Given the description of an element on the screen output the (x, y) to click on. 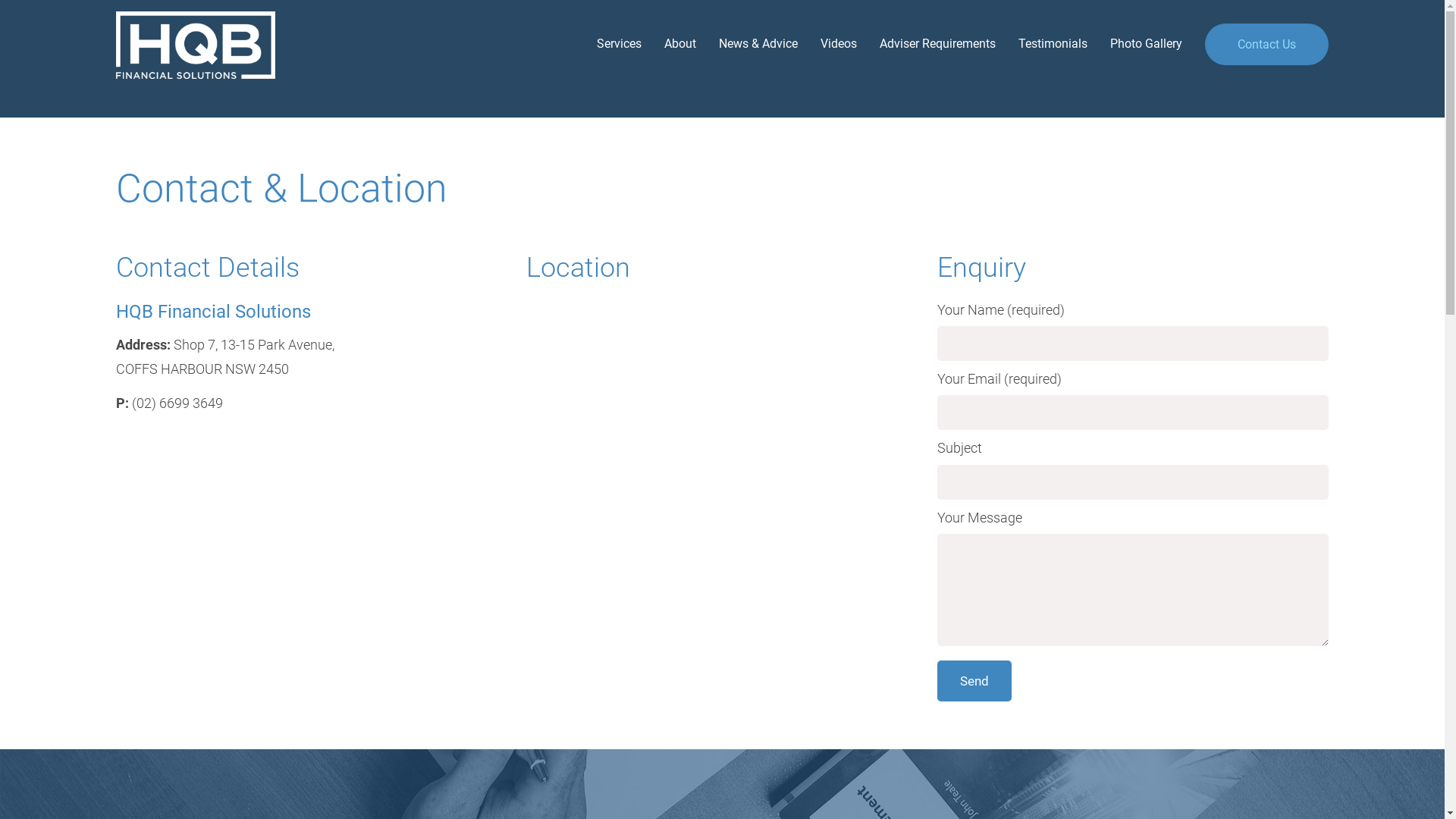
Testimonials Element type: text (1041, 43)
Send Element type: text (974, 680)
HQB Financial Solutions Element type: hover (208, 44)
About Element type: text (668, 43)
Services Element type: text (607, 43)
Videos Element type: text (826, 43)
Photo Gallery Element type: text (1134, 43)
News & Advice Element type: text (746, 43)
Adviser Requirements Element type: text (925, 43)
Contact Us Element type: text (1266, 44)
